Given the description of an element on the screen output the (x, y) to click on. 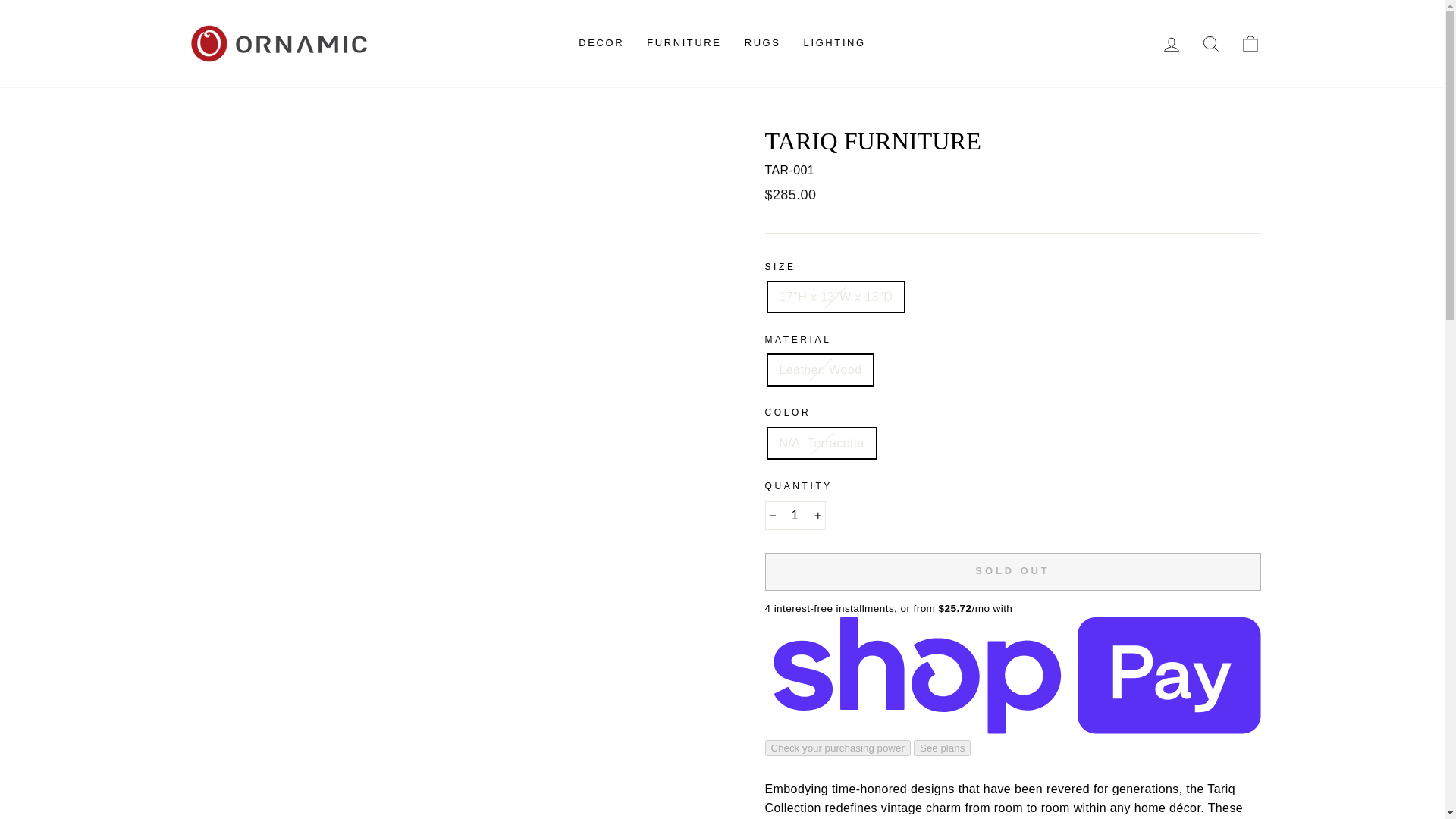
1 (794, 515)
